Given the description of an element on the screen output the (x, y) to click on. 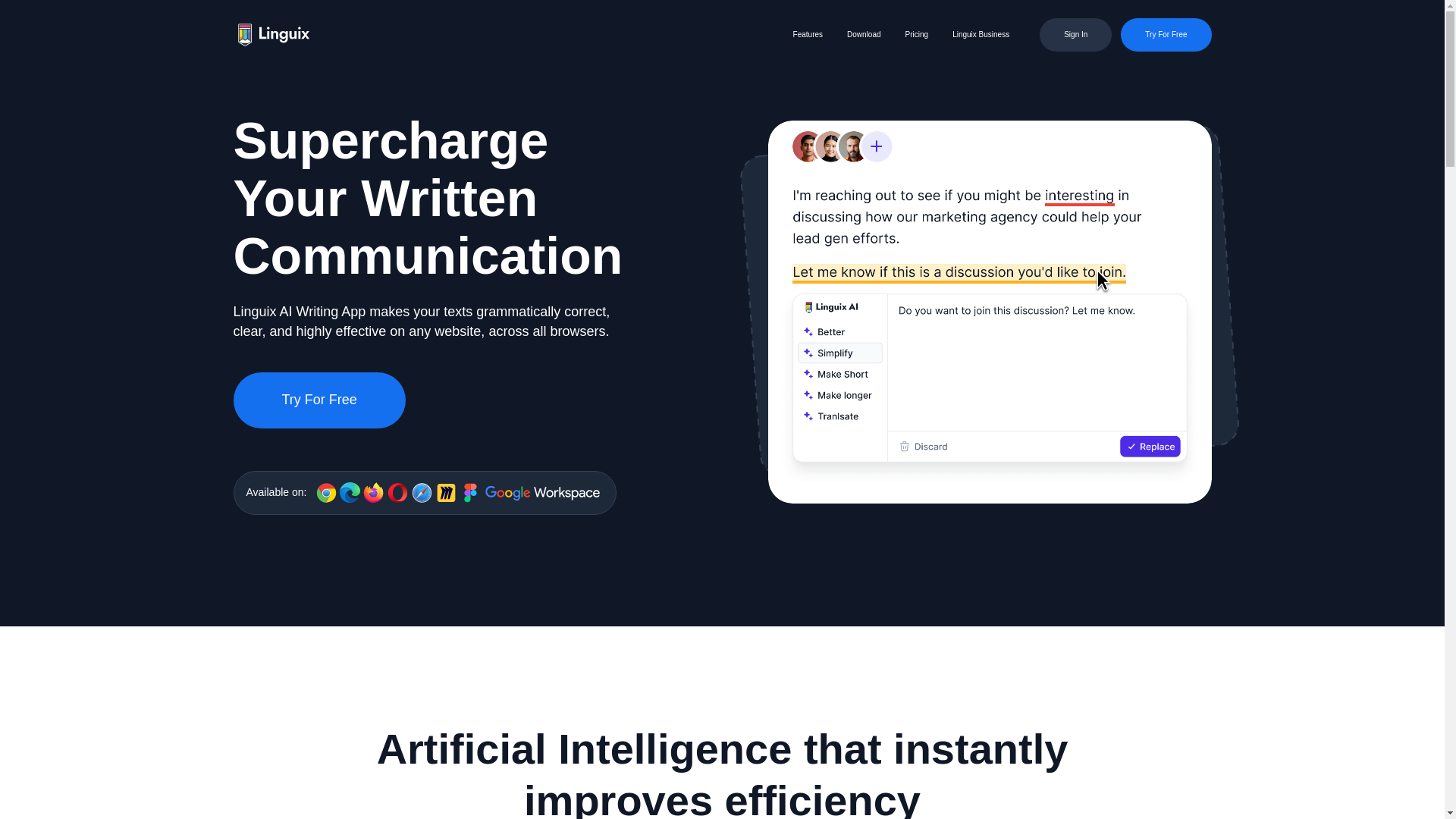
Try For Free (1166, 34)
Sign In (1075, 34)
Pricing (916, 34)
Linguix Business (980, 34)
Features (807, 34)
Try For Free (319, 400)
Download (863, 34)
